Given the description of an element on the screen output the (x, y) to click on. 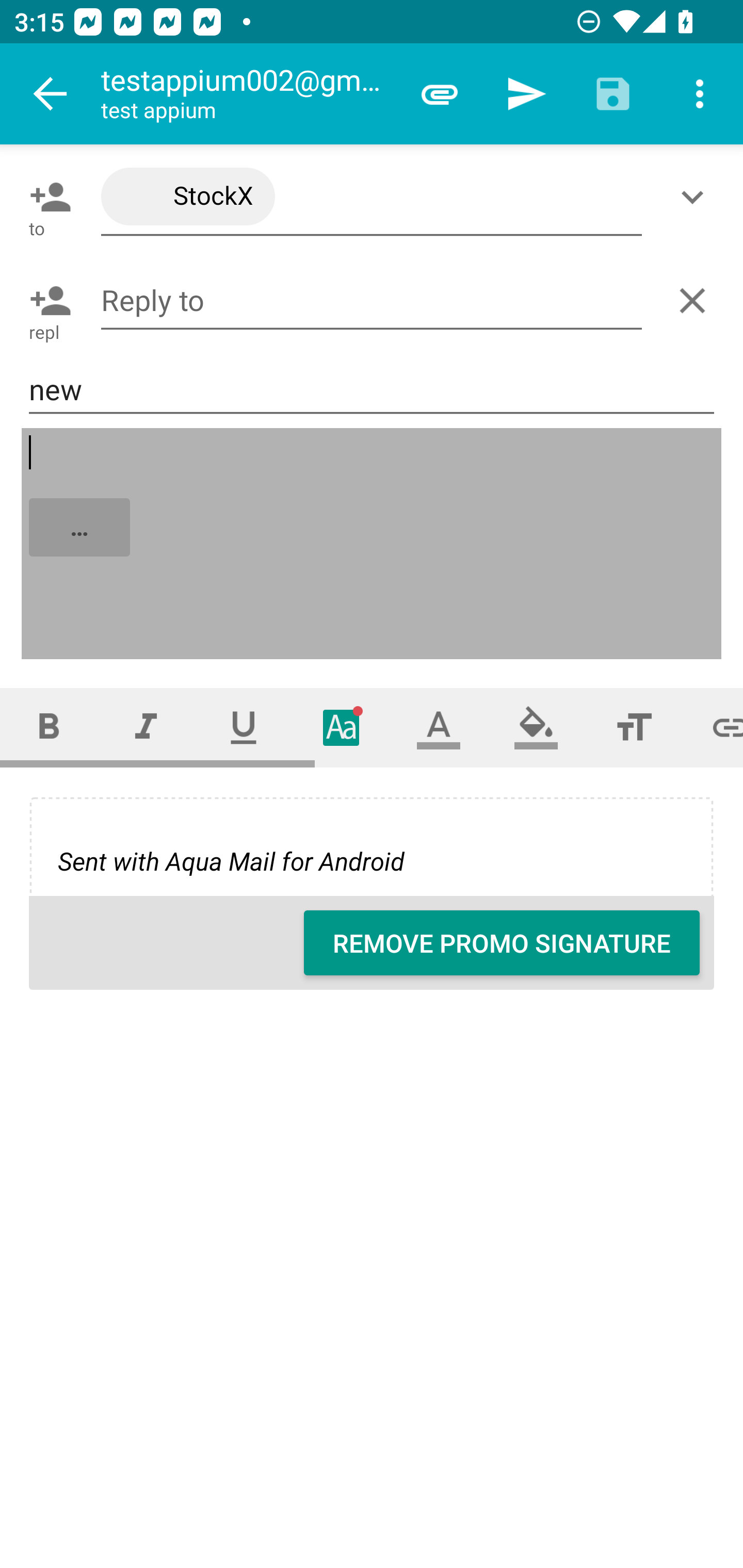
Navigate up (50, 93)
testappium002@gmail.com test appium (248, 93)
Attach (439, 93)
Send (525, 93)
Save (612, 93)
More options (699, 93)
StockX <noreply@stockx.com>,  (371, 197)
Pick contact: To (46, 196)
Show/Add CC/BCC (696, 196)
Pick contact: Reply to (46, 300)
Delete (696, 300)
Reply to (371, 300)
new (371, 389)

…
 (372, 544)
Bold (48, 727)
Italic (145, 727)
Underline (243, 727)
Typeface (font) (341, 727)
Text color (438, 727)
Fill color (536, 727)
Font size (633, 727)
REMOVE PROMO SIGNATURE (501, 943)
